Given the description of an element on the screen output the (x, y) to click on. 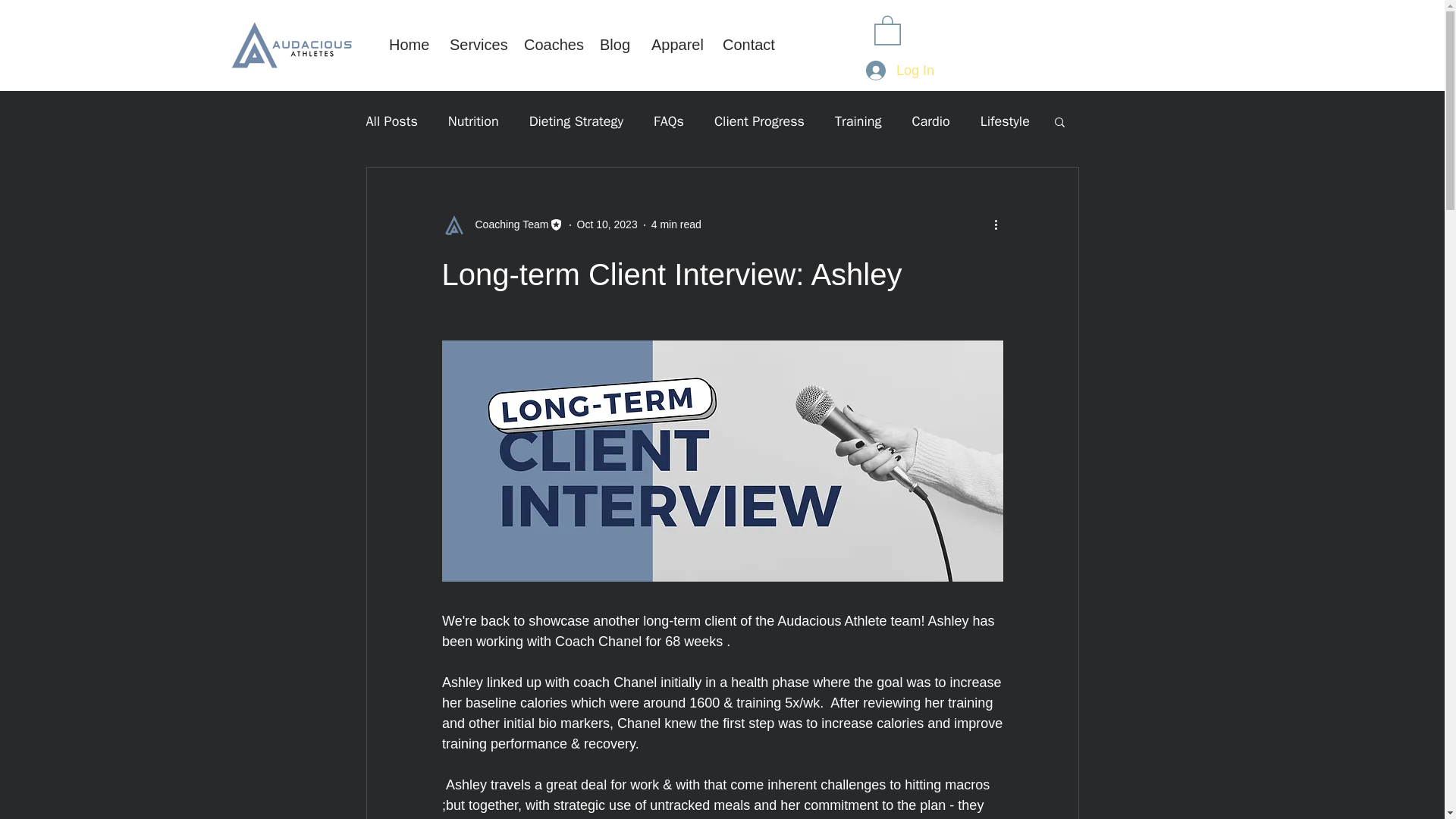
Contact (747, 45)
Nutrition (473, 121)
Coaches (550, 45)
Oct 10, 2023 (606, 224)
Dieting Strategy (576, 121)
Apparel (675, 45)
Cardio (930, 121)
Log In (900, 70)
FAQs (668, 121)
Blog (614, 45)
Training (857, 121)
All Posts (390, 121)
Lifestyle (1004, 121)
Coaching Team (506, 224)
Home (407, 45)
